Given the description of an element on the screen output the (x, y) to click on. 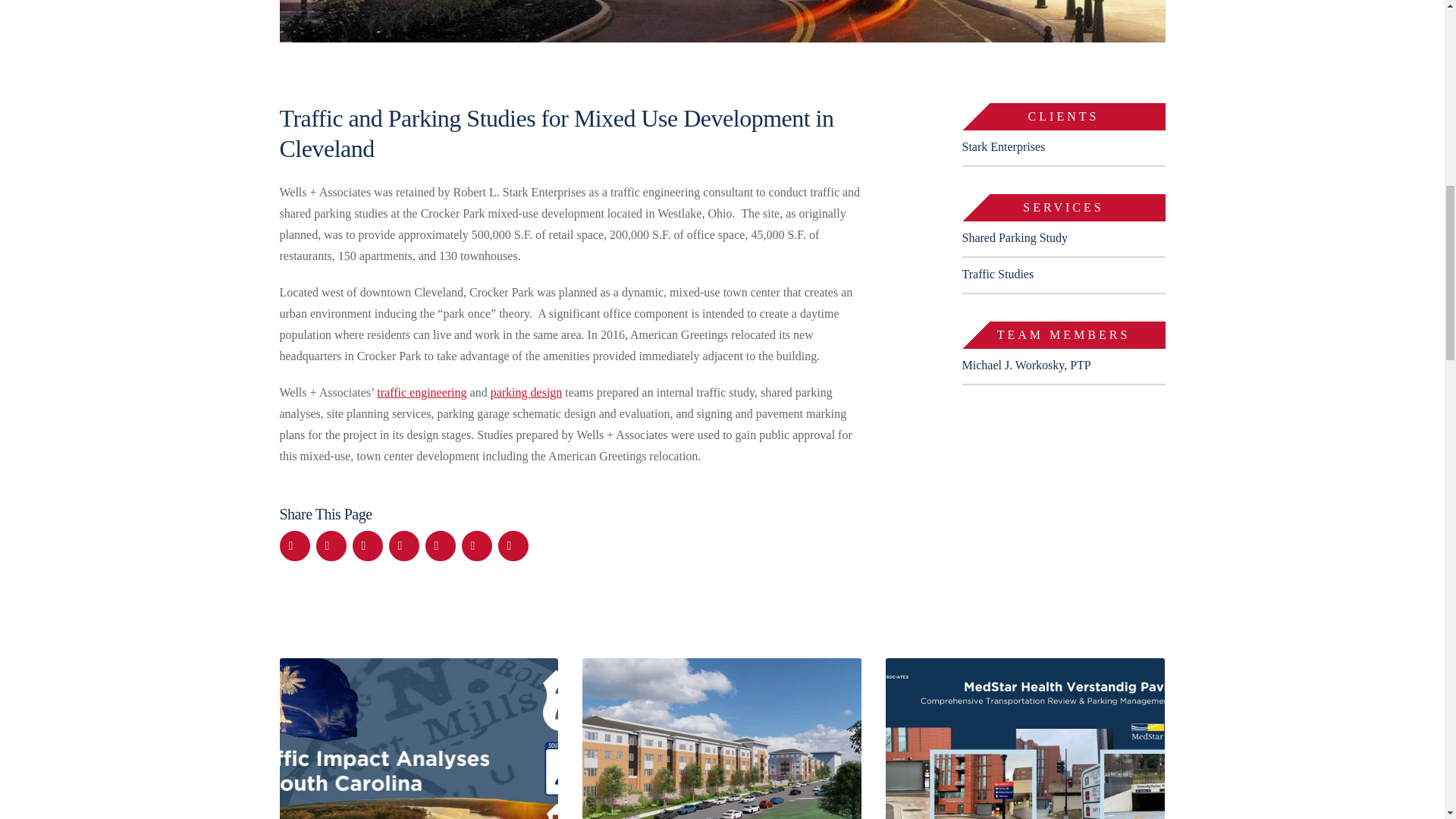
Linkedin (476, 545)
Facebook (293, 545)
Michael J. Workosky, PTP (1025, 364)
Email (512, 545)
Pinterest (403, 545)
Twitter (330, 545)
Reddit (439, 545)
Tumblr (366, 545)
